Given the description of an element on the screen output the (x, y) to click on. 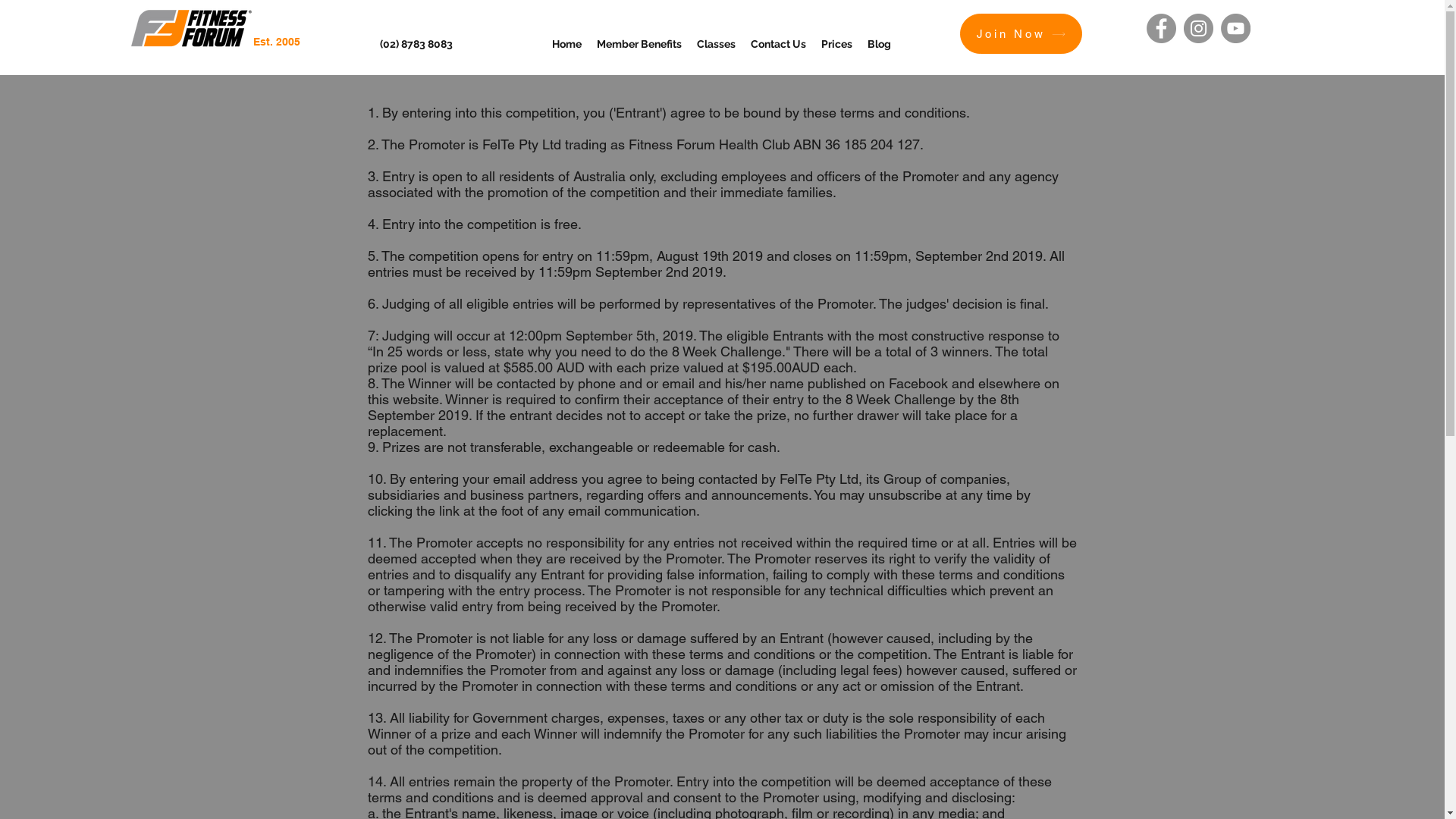
Contact Us Element type: text (778, 43)
Classes Element type: text (716, 43)
Blog Element type: text (878, 43)
Home Element type: text (566, 43)
Join Now Element type: text (1021, 33)
Member Benefits Element type: text (639, 43)
Prices Element type: text (836, 43)
